Given the description of an element on the screen output the (x, y) to click on. 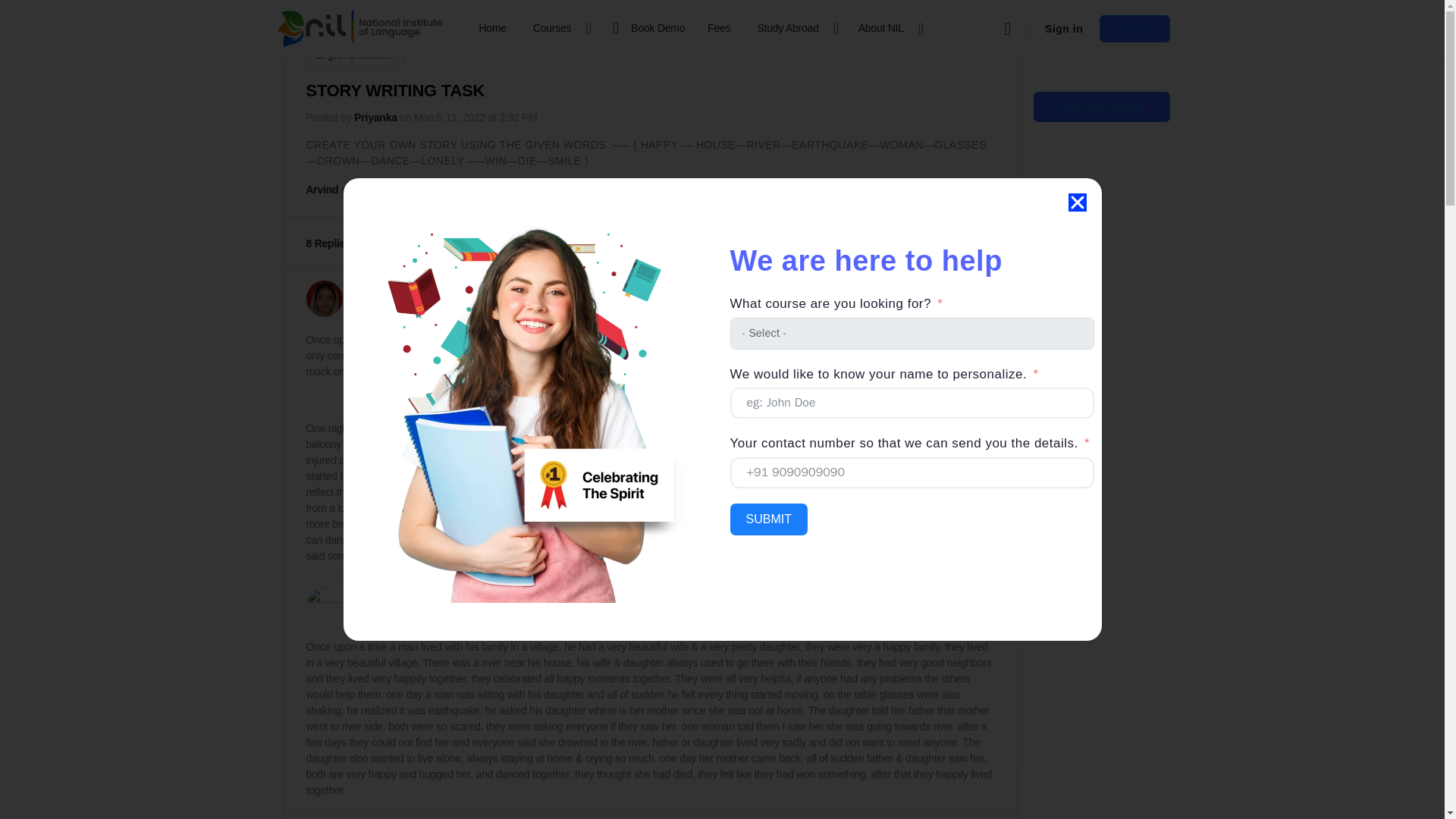
Book Demo (645, 28)
View Pallavi's profile (323, 606)
View Priyanka's profile (374, 117)
Sign in (1063, 28)
View Naila's profile (323, 298)
Sign up (1134, 28)
View Naila's profile (365, 292)
Reply To: STORY WRITING TASK (427, 189)
About NIL (887, 28)
View Pallavi's profile (369, 599)
View Arvind's profile (322, 189)
Study Abroad (794, 28)
Courses (558, 28)
